Given the description of an element on the screen output the (x, y) to click on. 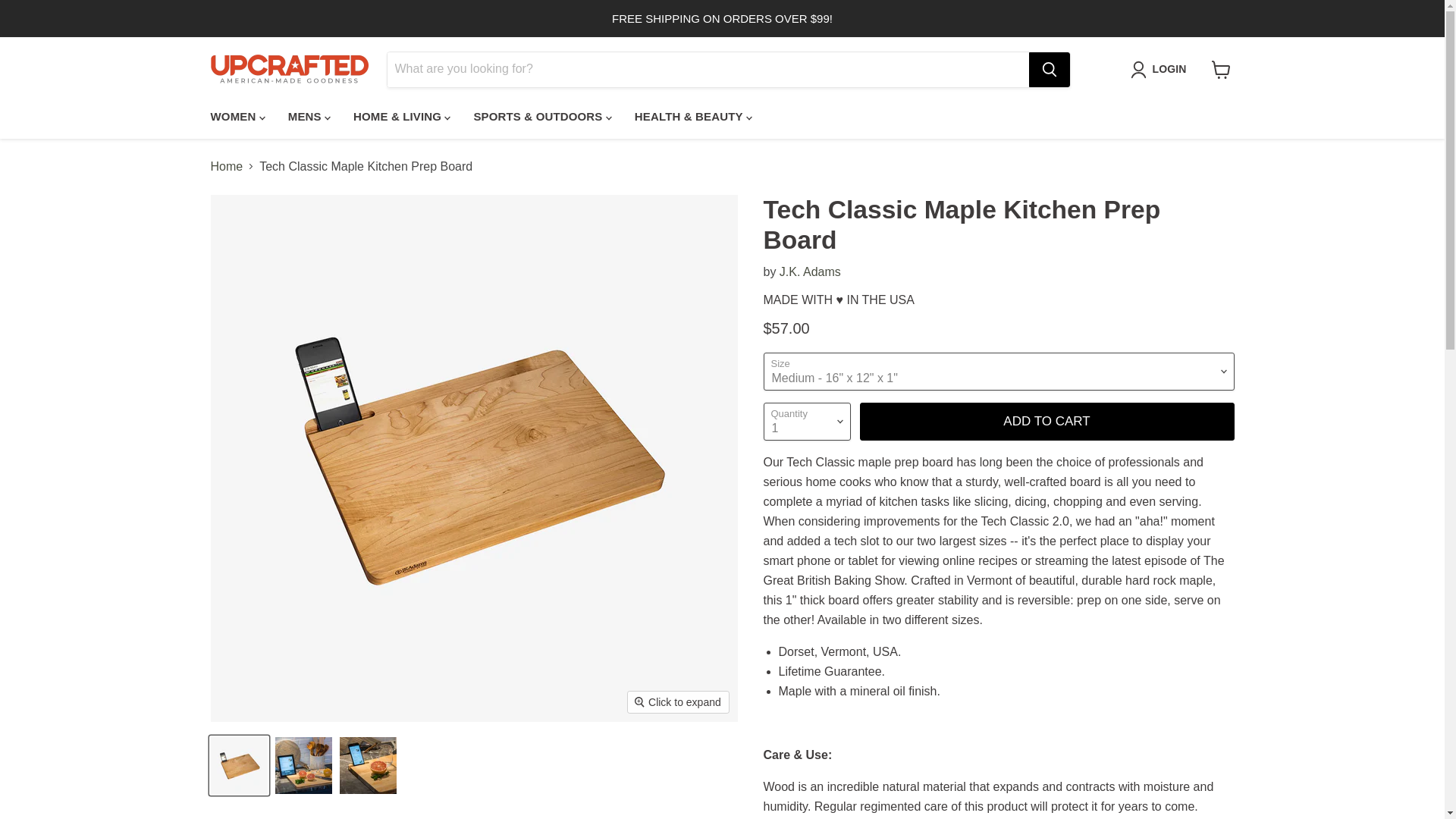
View cart (1221, 69)
J.K. Adams (809, 271)
LOGIN (1168, 69)
